Given the description of an element on the screen output the (x, y) to click on. 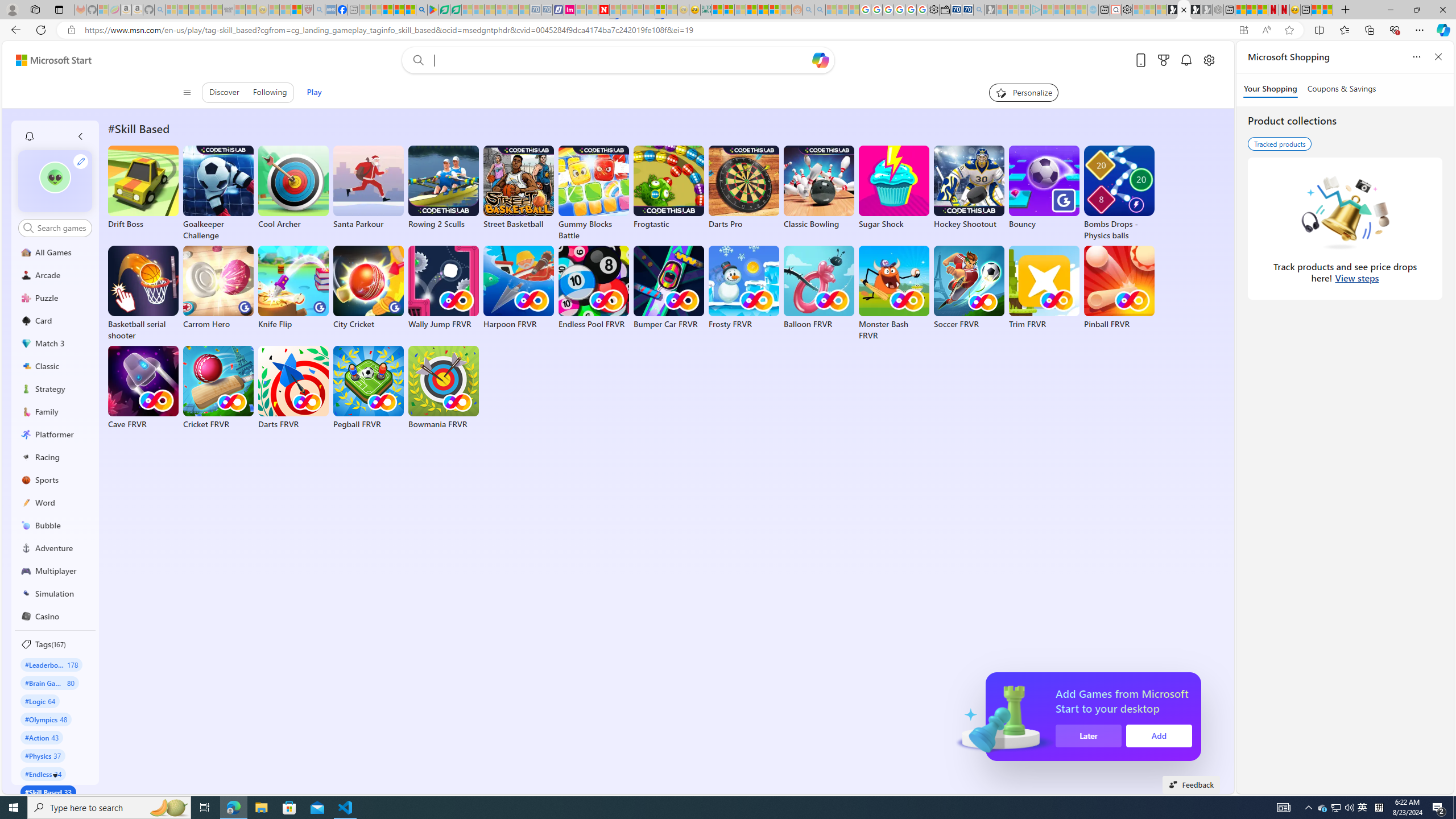
App available. Install Games from Microsoft Start (1243, 29)
Microsoft Word - consumer-privacy address update 2.2021 (455, 9)
Class: pwa-upsell-icon (1002, 716)
Darts FRVR (293, 387)
Personalize your feed" (1023, 92)
Drift Boss (143, 187)
Cave FRVR (143, 387)
